Given the description of an element on the screen output the (x, y) to click on. 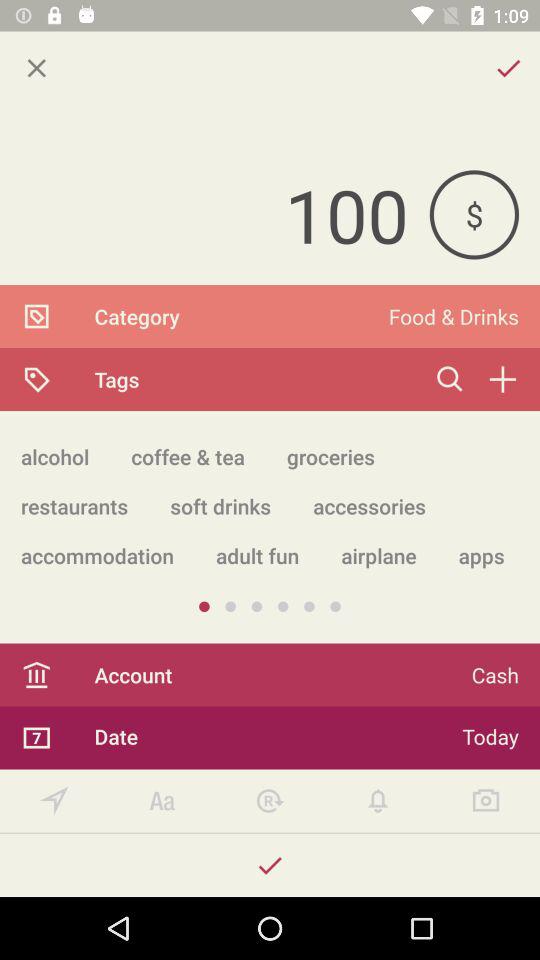
enter correct info (270, 865)
